Given the description of an element on the screen output the (x, y) to click on. 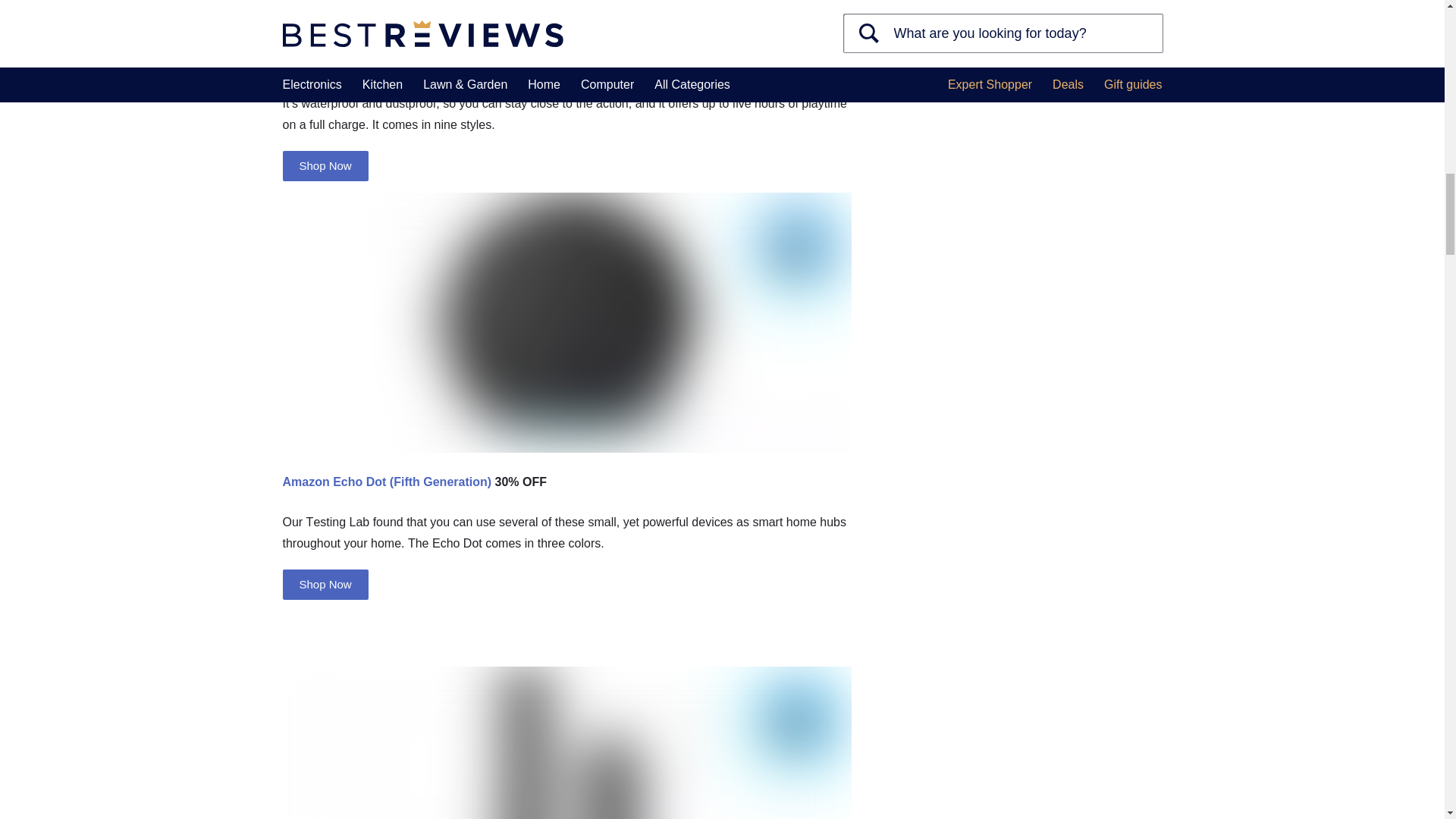
Shop Now (325, 165)
Shop Now (325, 584)
JBL Go 3 Portable Bluetooth Speaker (389, 42)
